Given the description of an element on the screen output the (x, y) to click on. 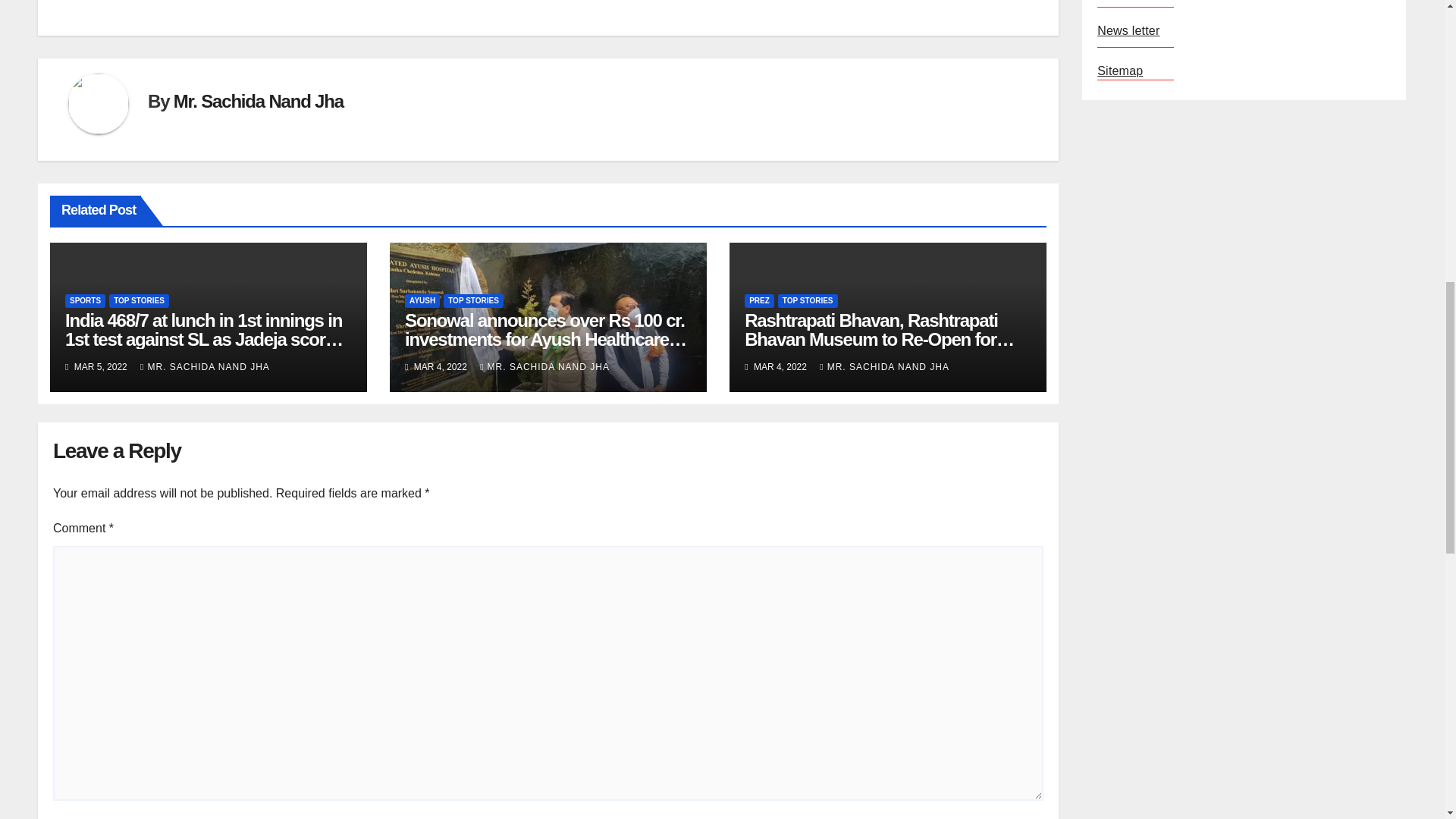
SPORTS (84, 300)
TOP STORIES (138, 300)
Mr. Sachida Nand Jha (258, 100)
